Given the description of an element on the screen output the (x, y) to click on. 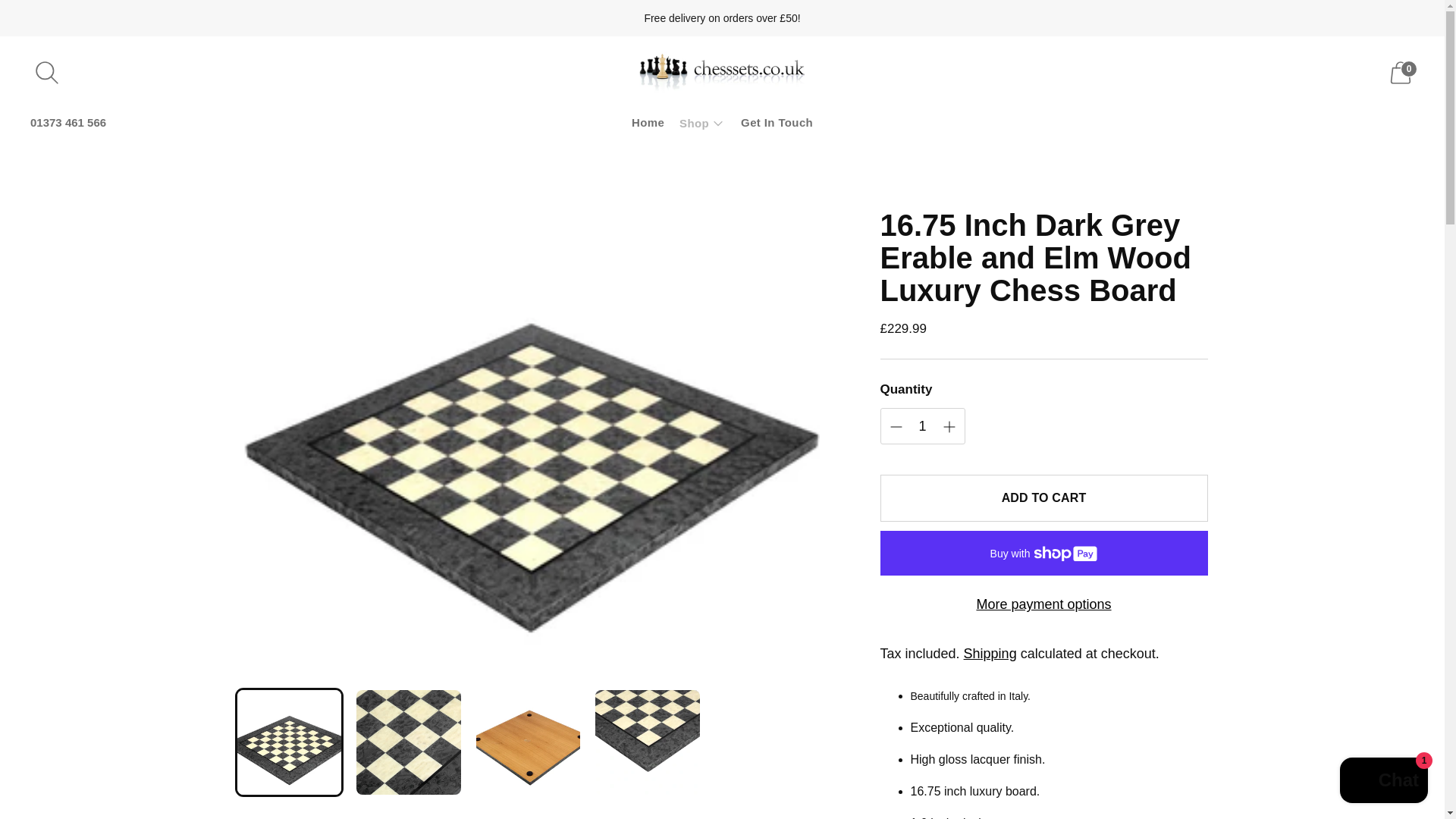
Get In Touch (776, 122)
Shop (702, 122)
Shopify online store chat (1383, 781)
0 (1400, 72)
Home (647, 122)
